Given the description of an element on the screen output the (x, y) to click on. 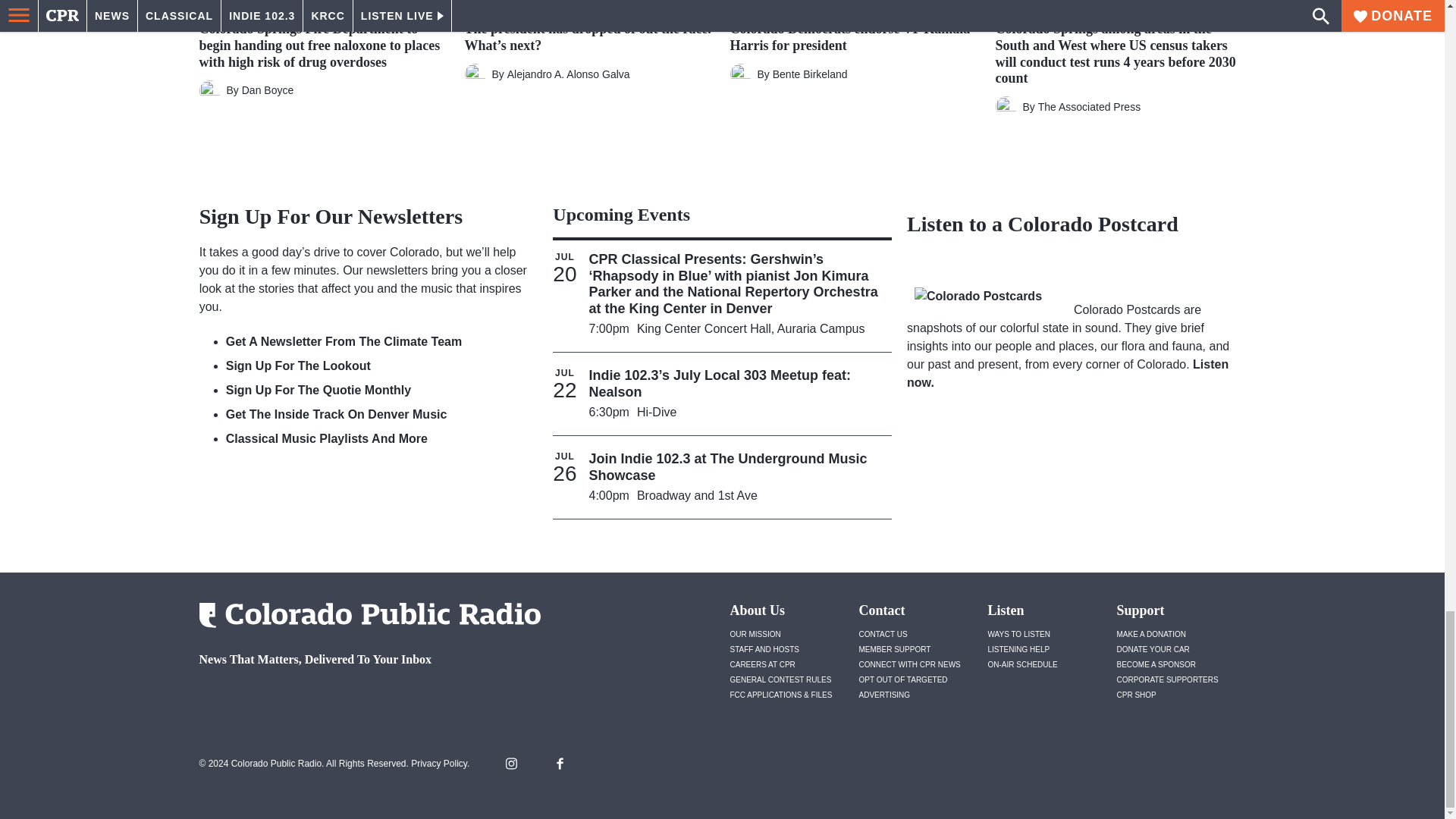
footer (364, 699)
